Given the description of an element on the screen output the (x, y) to click on. 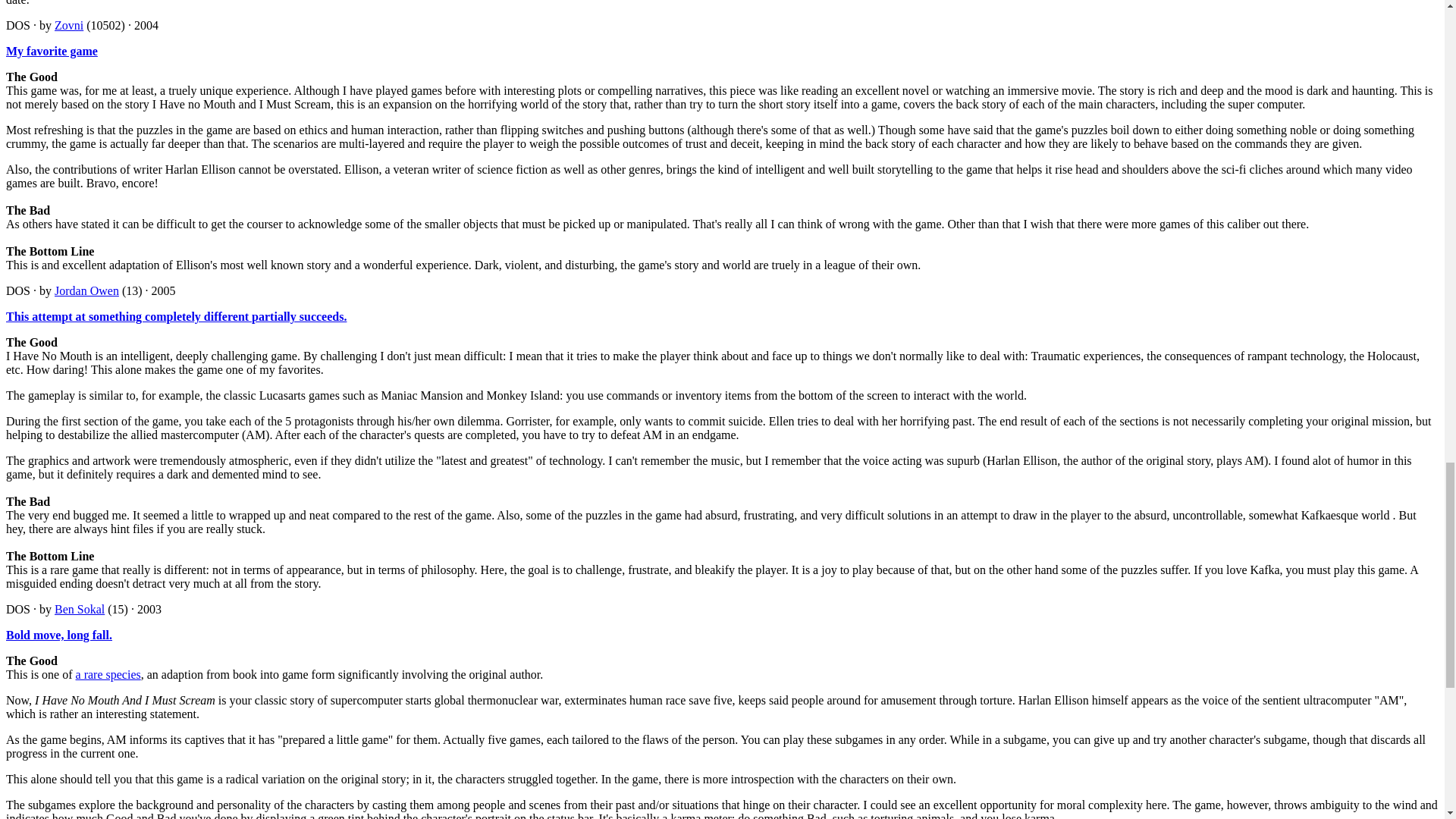
May 29, 2003 (148, 608)
May 30, 2005 (163, 290)
Apr 30, 2004 (145, 24)
